Given the description of an element on the screen output the (x, y) to click on. 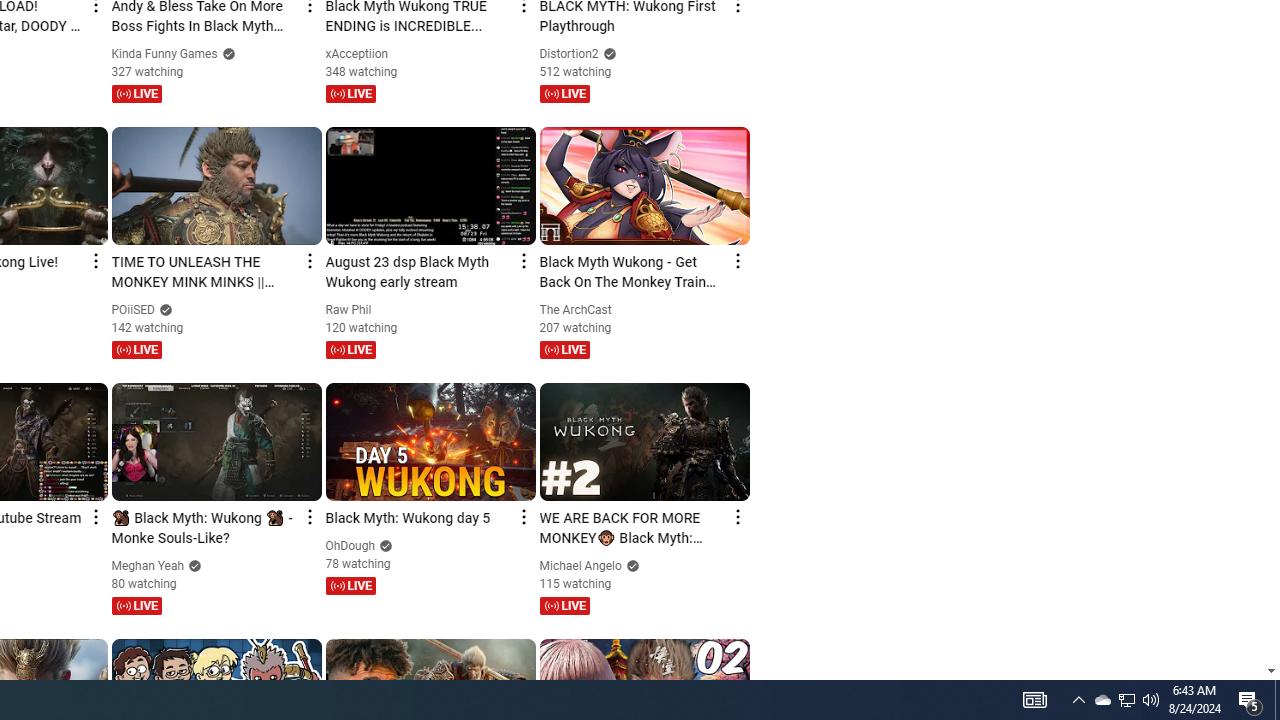
Raw Phil (348, 309)
Kinda Funny Games (164, 53)
OhDough (351, 546)
POiiSED (134, 309)
xAcceptiion (357, 53)
LIVE (564, 605)
The ArchCast (575, 309)
Michael Angelo (581, 566)
Verified (630, 565)
Meghan Yeah (148, 566)
Black Myth: Wukong day 5 by OhDough 5,441 views (418, 519)
Distortion2 (569, 53)
